Given the description of an element on the screen output the (x, y) to click on. 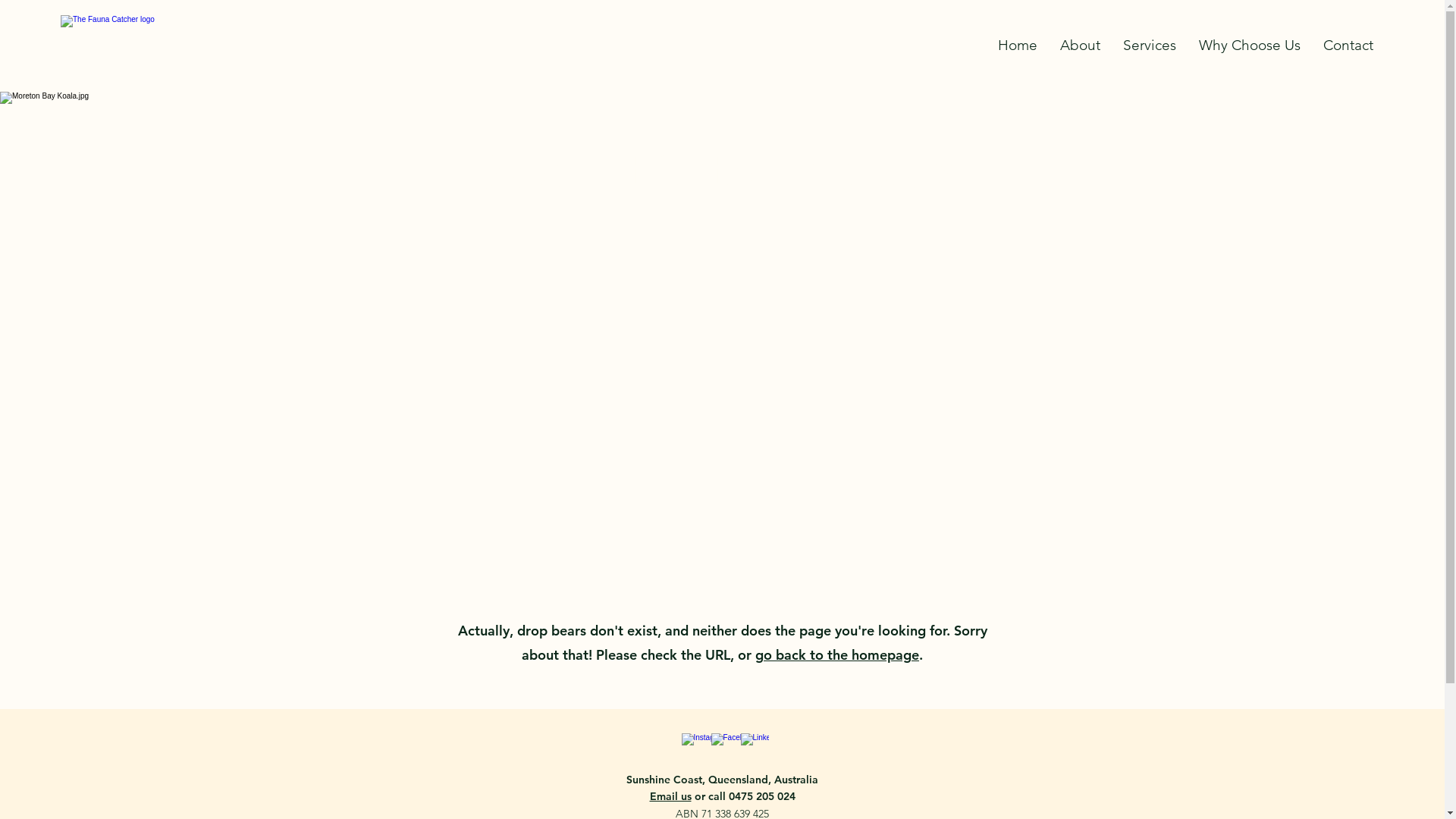
Services Element type: text (1149, 45)
Home Element type: text (1017, 45)
Why Choose Us Element type: text (1249, 45)
Email us Element type: text (669, 796)
Contact Element type: text (1347, 45)
go back to the homepage Element type: text (837, 654)
About Element type: text (1079, 45)
